Given the description of an element on the screen output the (x, y) to click on. 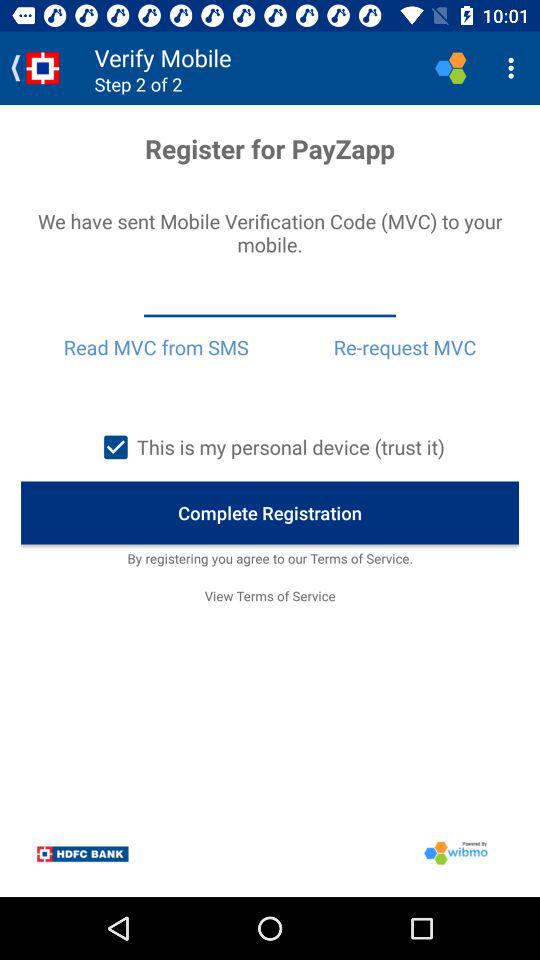
press item below we have sent item (269, 299)
